Given the description of an element on the screen output the (x, y) to click on. 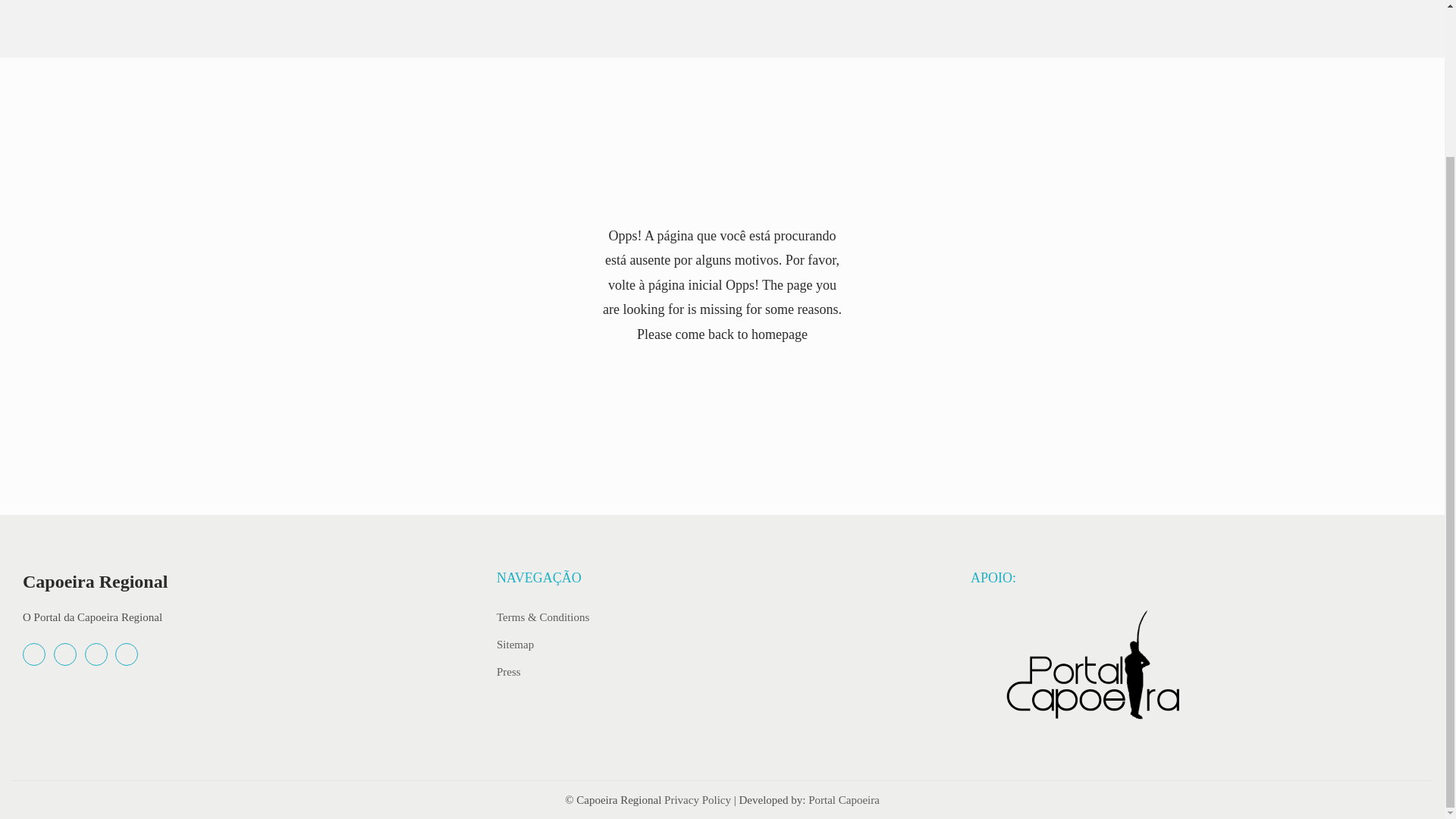
Press (508, 671)
Privacy Policy (696, 799)
Portal Capoeira (843, 799)
Sitemap (515, 644)
